Given the description of an element on the screen output the (x, y) to click on. 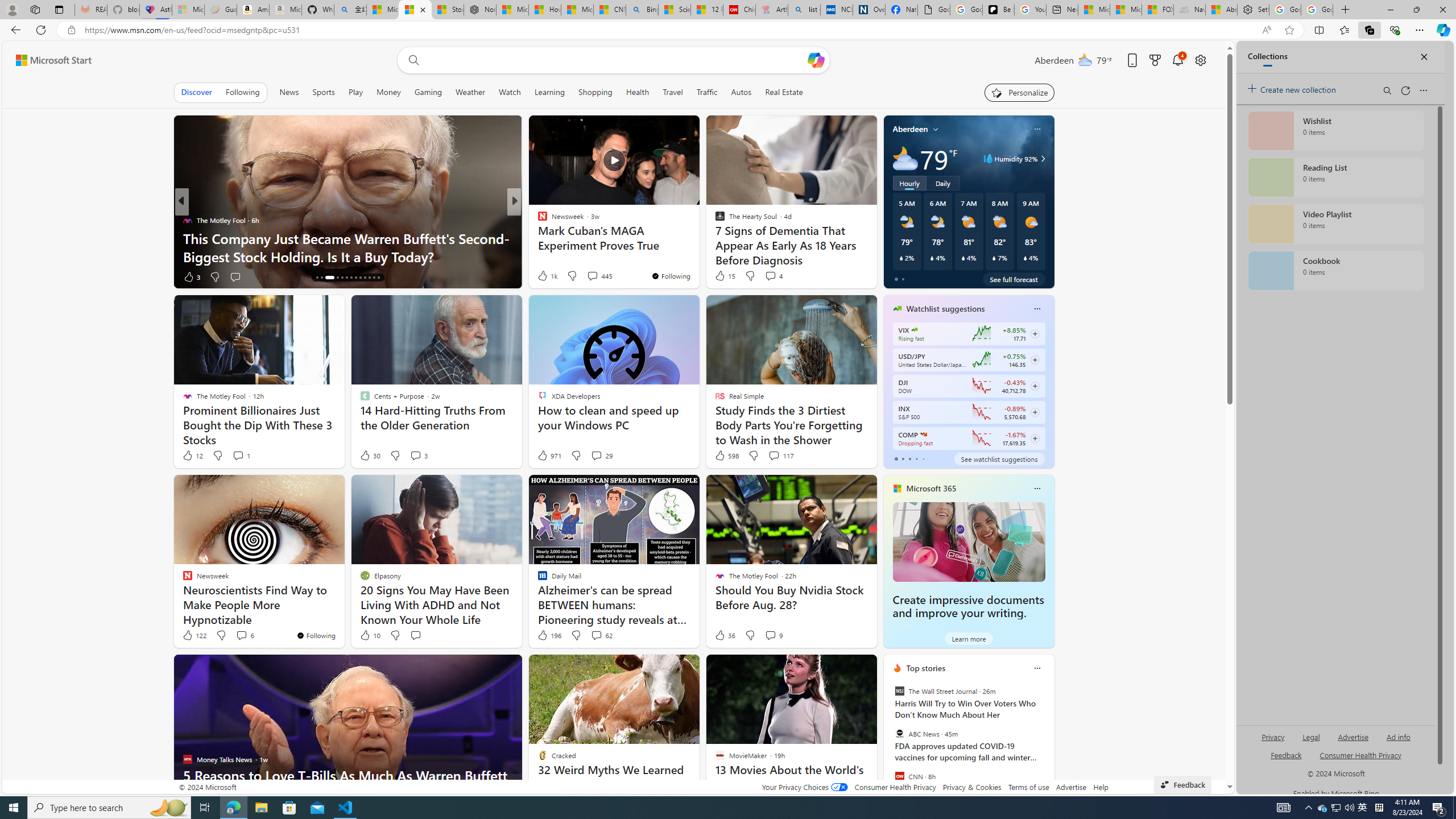
View comments 62 Comment (595, 635)
Health (637, 92)
Hourly (909, 183)
Health (637, 92)
10 Like (368, 634)
Shopping (594, 92)
AutomationID: tab-14 (317, 277)
tab-4 (923, 458)
View comments 2 Comment (592, 276)
122 Like (193, 634)
Watchlist suggestions (945, 308)
